Given the description of an element on the screen output the (x, y) to click on. 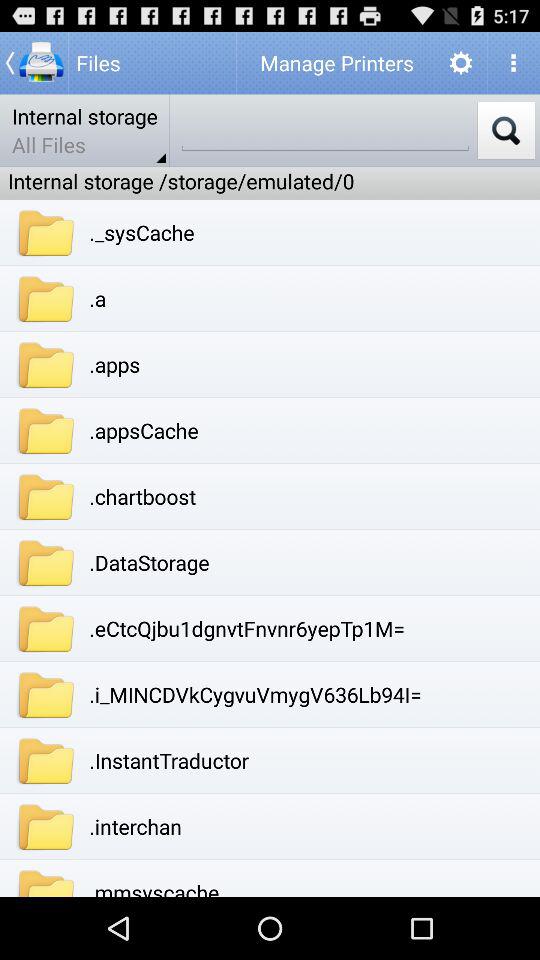
search option (325, 130)
